Given the description of an element on the screen output the (x, y) to click on. 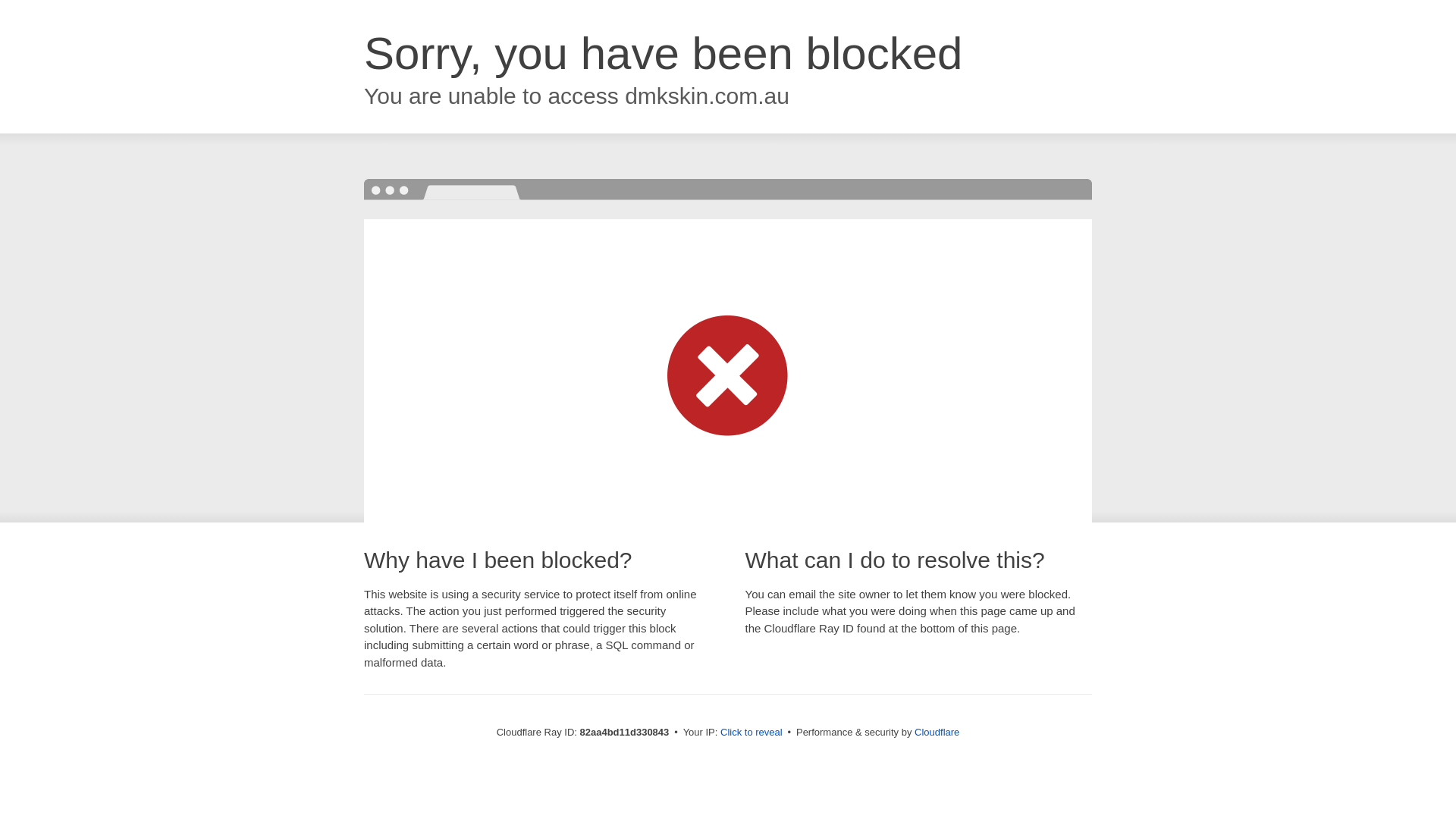
Cloudflare Element type: text (936, 731)
Click to reveal Element type: text (751, 732)
